Given the description of an element on the screen output the (x, y) to click on. 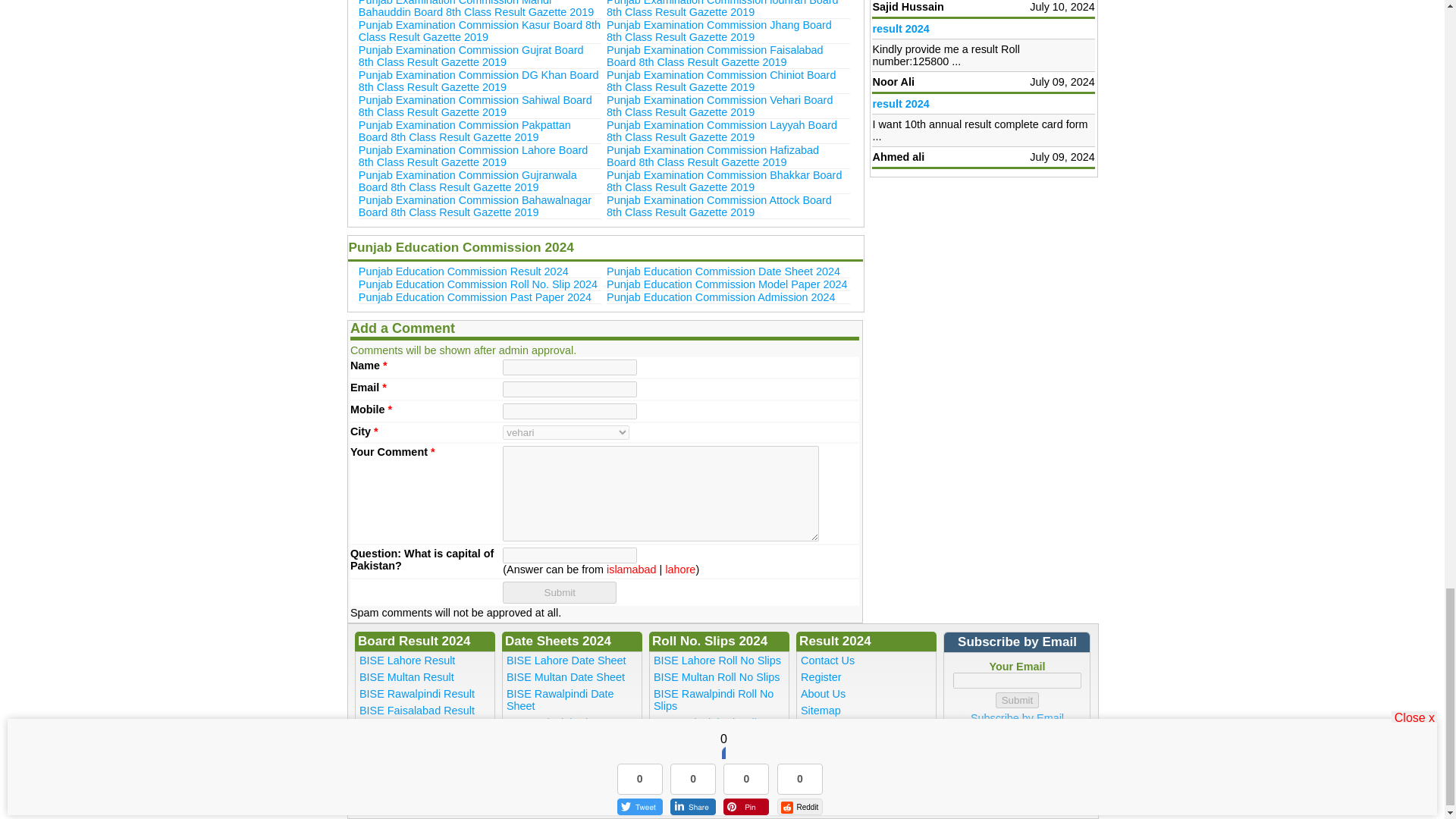
Submit (1017, 700)
Submit (558, 592)
